Given the description of an element on the screen output the (x, y) to click on. 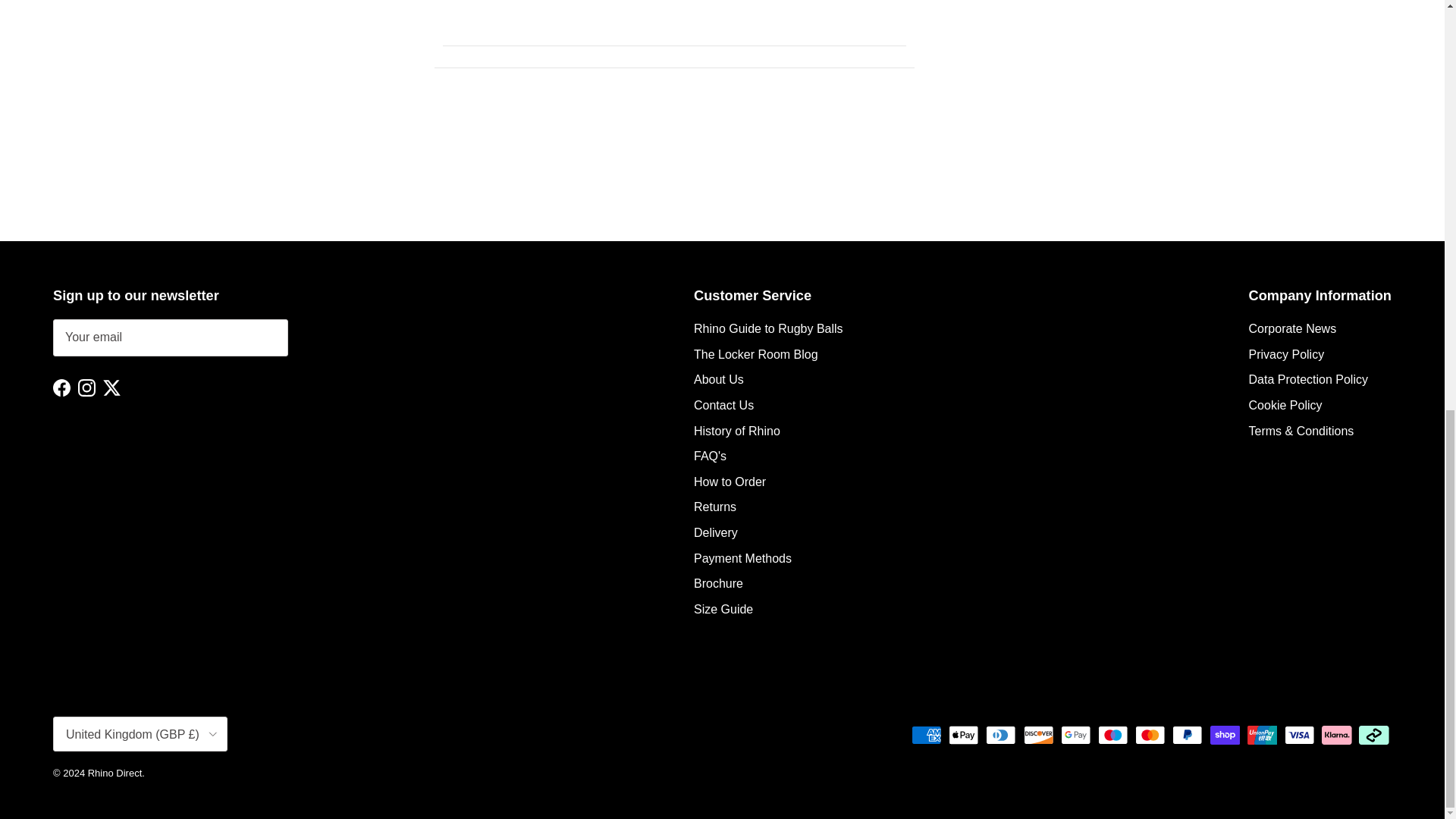
Google Pay (1075, 734)
Union Pay (1261, 734)
Diners Club (1000, 734)
Rhino Direct on Facebook (60, 387)
Visa (1299, 734)
American Express (926, 734)
Rhino Direct on Instagram (87, 387)
Mastercard (1149, 734)
Rhino Direct on Twitter (111, 387)
Klarna (1336, 734)
